Given the description of an element on the screen output the (x, y) to click on. 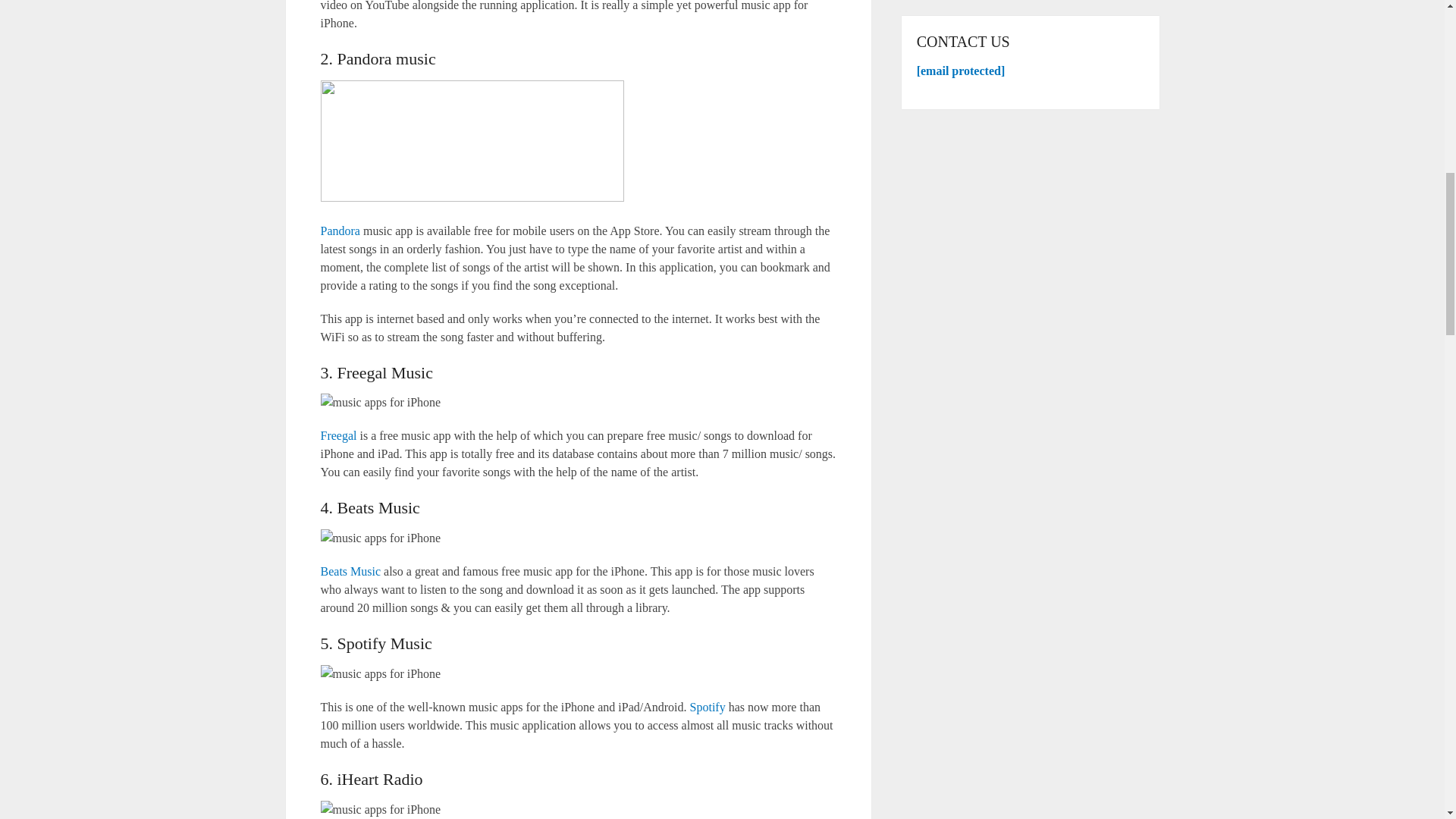
Spotify (707, 707)
Pandora (339, 230)
Freegal (338, 435)
Beats Music (350, 571)
